Given the description of an element on the screen output the (x, y) to click on. 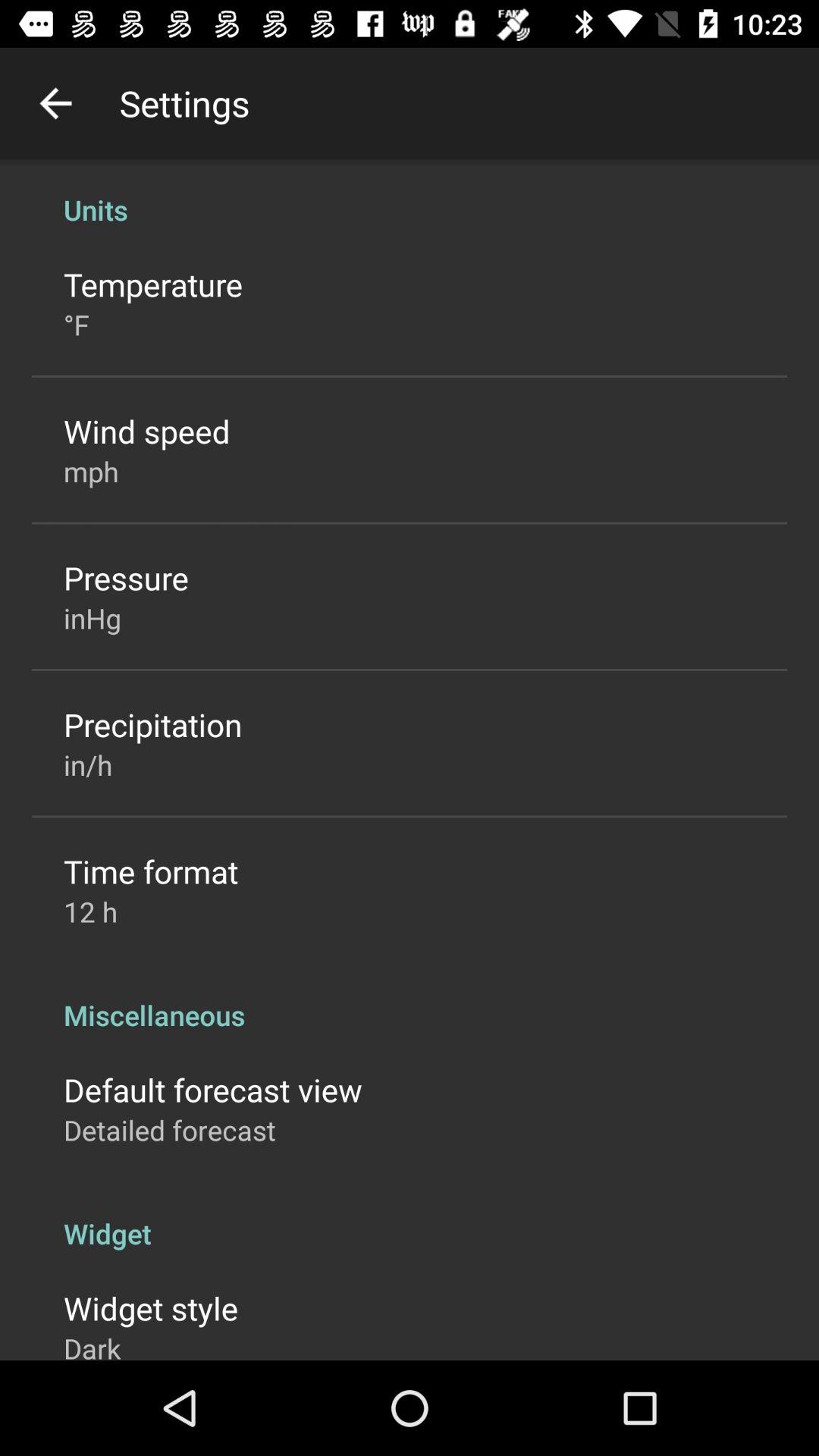
choose the icon below 12 h item (409, 998)
